Given the description of an element on the screen output the (x, y) to click on. 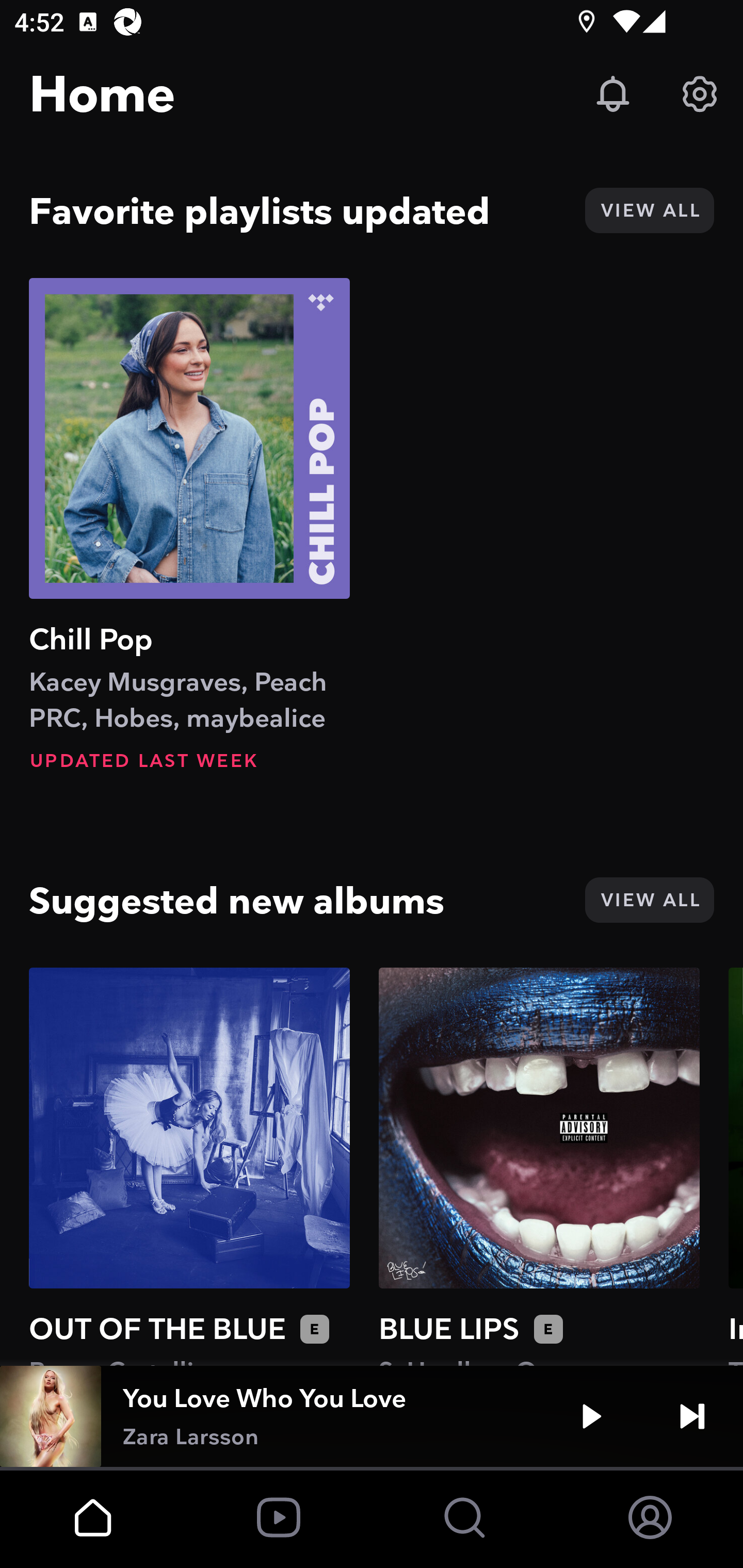
Updates (612, 93)
Settings (699, 93)
VIEW ALL (649, 210)
VIEW ALL (649, 899)
OUT OF THE BLUE Brynn Cartelli (188, 1166)
BLUE LIPS ScHoolboy Q (538, 1166)
You Love Who You Love Zara Larsson Play (371, 1416)
Play (590, 1416)
